Given the description of an element on the screen output the (x, y) to click on. 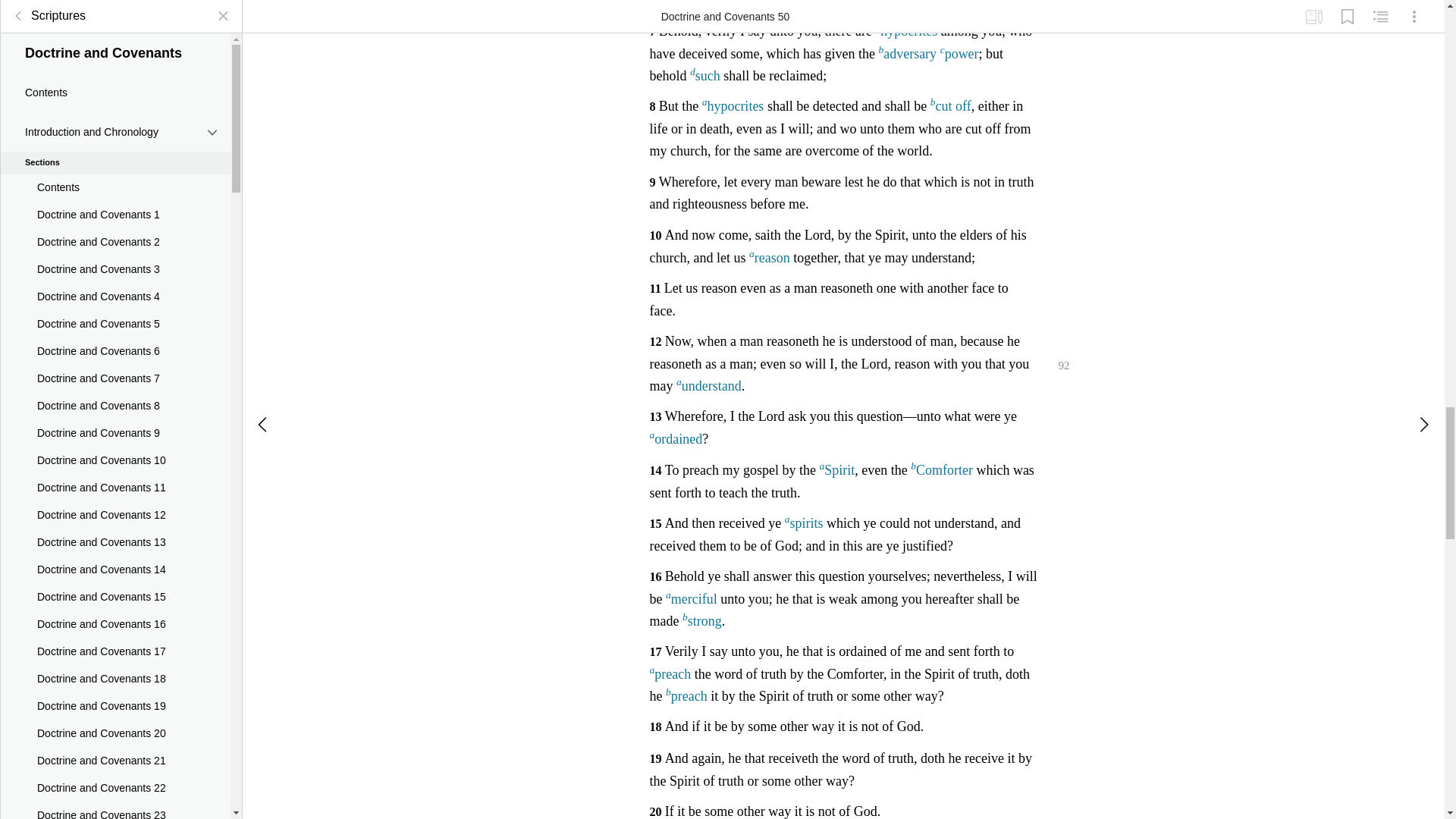
Doctrine and Covenants 29 (115, 191)
Doctrine and Covenants 35 (115, 355)
Doctrine and Covenants 24 (115, 54)
Doctrine and Covenants 32 (115, 273)
Doctrine and Covenants 34 (115, 328)
Doctrine and Covenants 33 (115, 300)
Doctrine and Covenants 26 (115, 109)
Doctrine and Covenants 23 (115, 27)
Doctrine and Covenants 28 (115, 164)
Doctrine and Covenants 27 (115, 136)
Doctrine and Covenants 31 (115, 246)
Doctrine and Covenants 30 (115, 218)
Doctrine and Covenants 25 (115, 82)
Doctrine and Covenants 22 (115, 7)
